Given the description of an element on the screen output the (x, y) to click on. 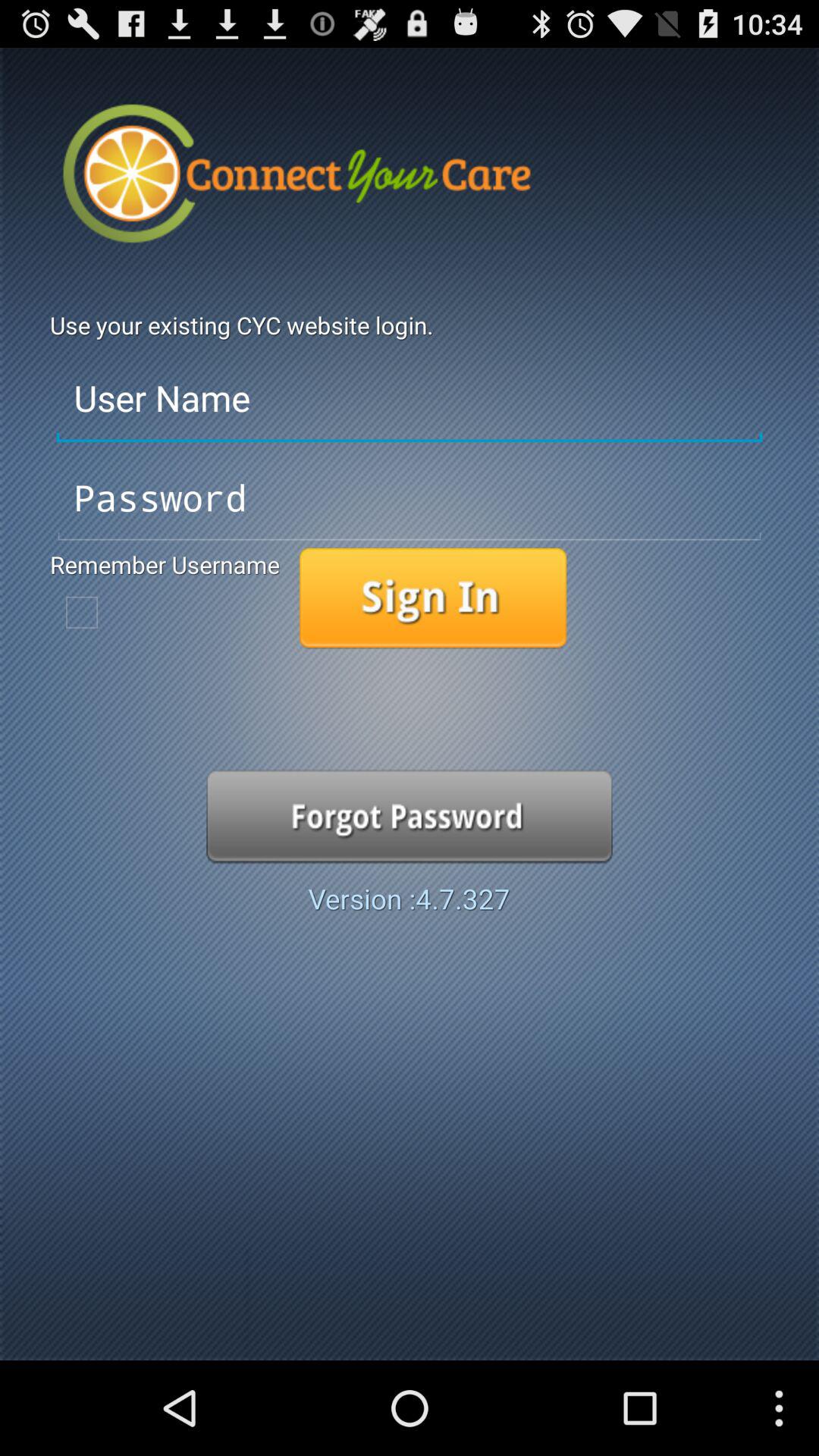
press item next to the remember username item (432, 598)
